Given the description of an element on the screen output the (x, y) to click on. 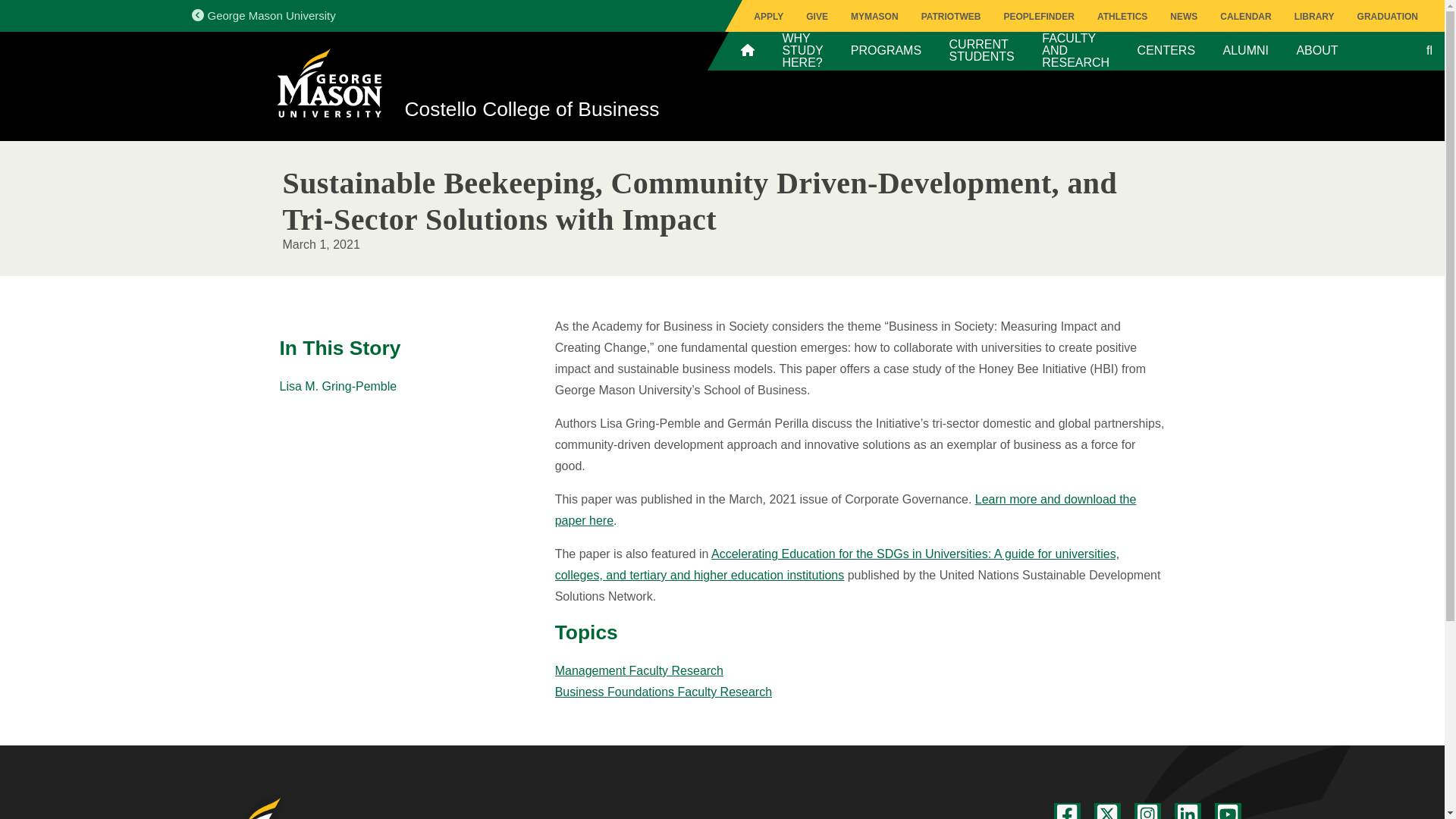
NEWS (1183, 16)
PATRIOTWEB (951, 16)
Prospective Students (802, 50)
PROGRAMS (885, 50)
GIVE (817, 16)
WHY STUDY HERE? (802, 50)
APPLY (768, 16)
ATHLETICS (1122, 16)
GRADUATION (1387, 16)
